Given the description of an element on the screen output the (x, y) to click on. 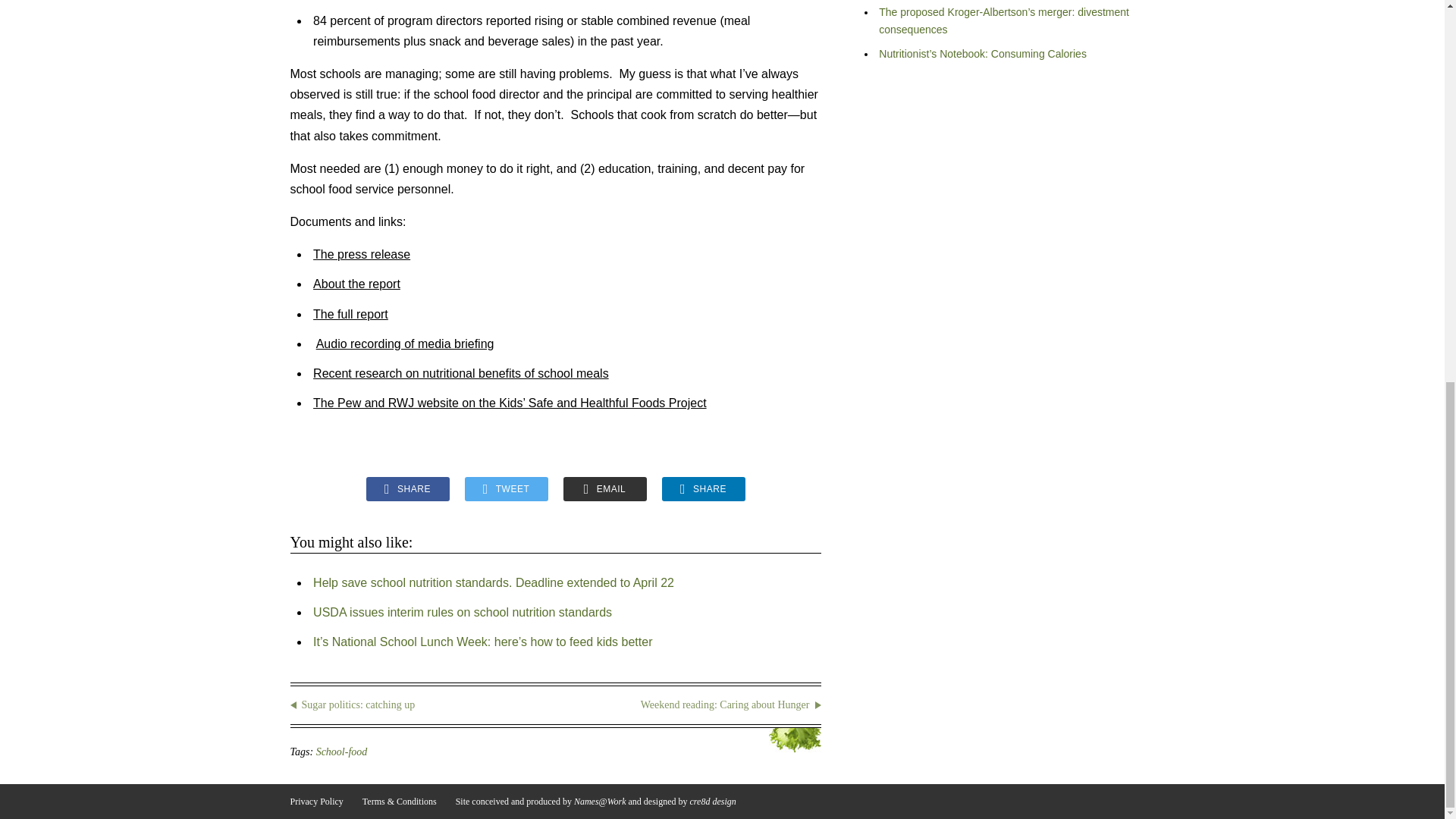
The full report (350, 314)
Audio recording of media briefing (405, 343)
School-food (341, 751)
About the report (356, 283)
Sugar politics: catching up (413, 704)
EMAIL (604, 488)
SHARE (702, 488)
Recent research on nutritional benefits of school meals (460, 373)
The press release (361, 254)
TWEET (505, 488)
USDA issues interim rules on school nutrition standards (462, 612)
Weekend reading: Caring about Hunger (696, 704)
SHARE (406, 488)
